Given the description of an element on the screen output the (x, y) to click on. 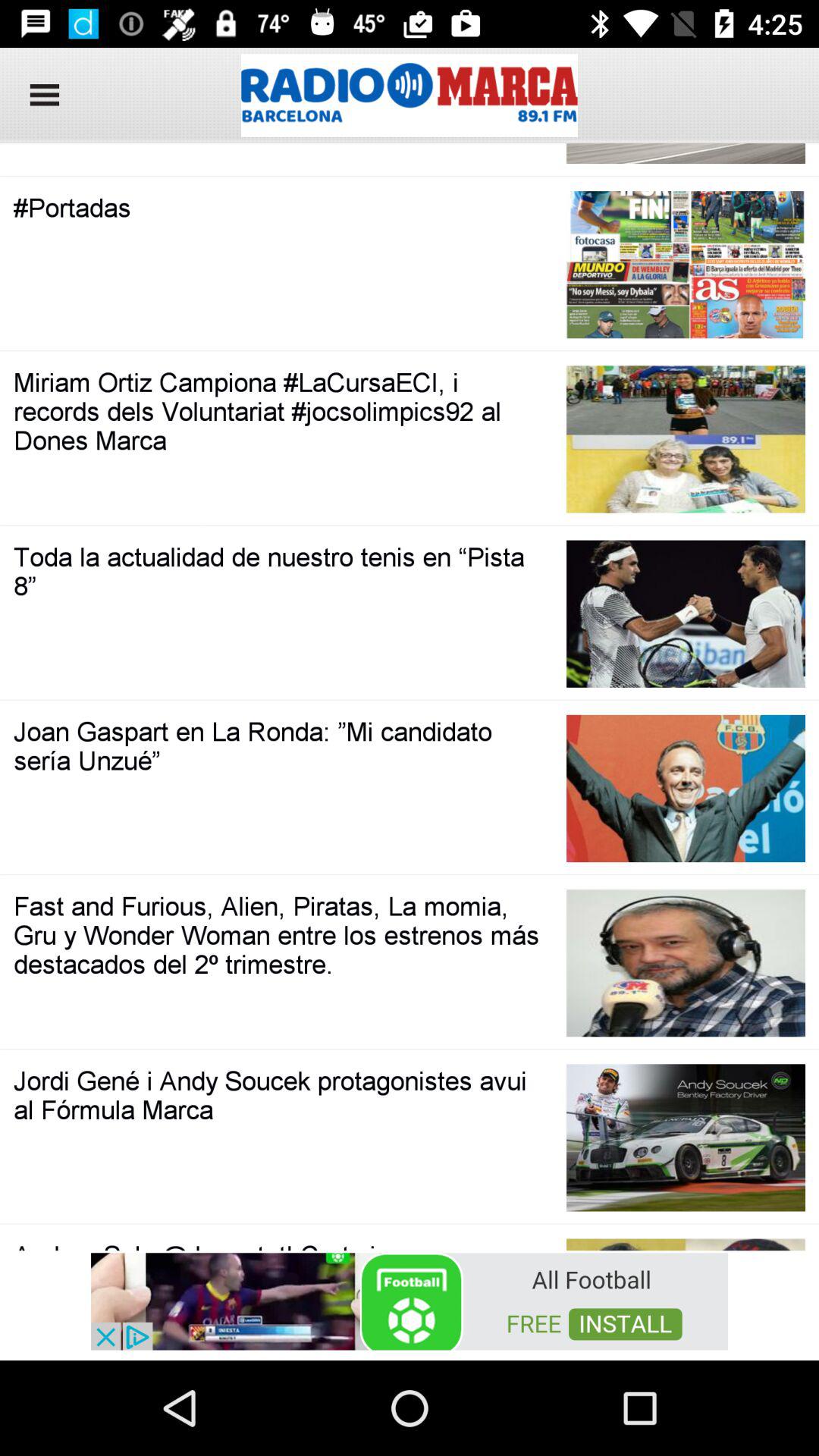
click on menu button at top left corner of the page (39, 95)
